Given the description of an element on the screen output the (x, y) to click on. 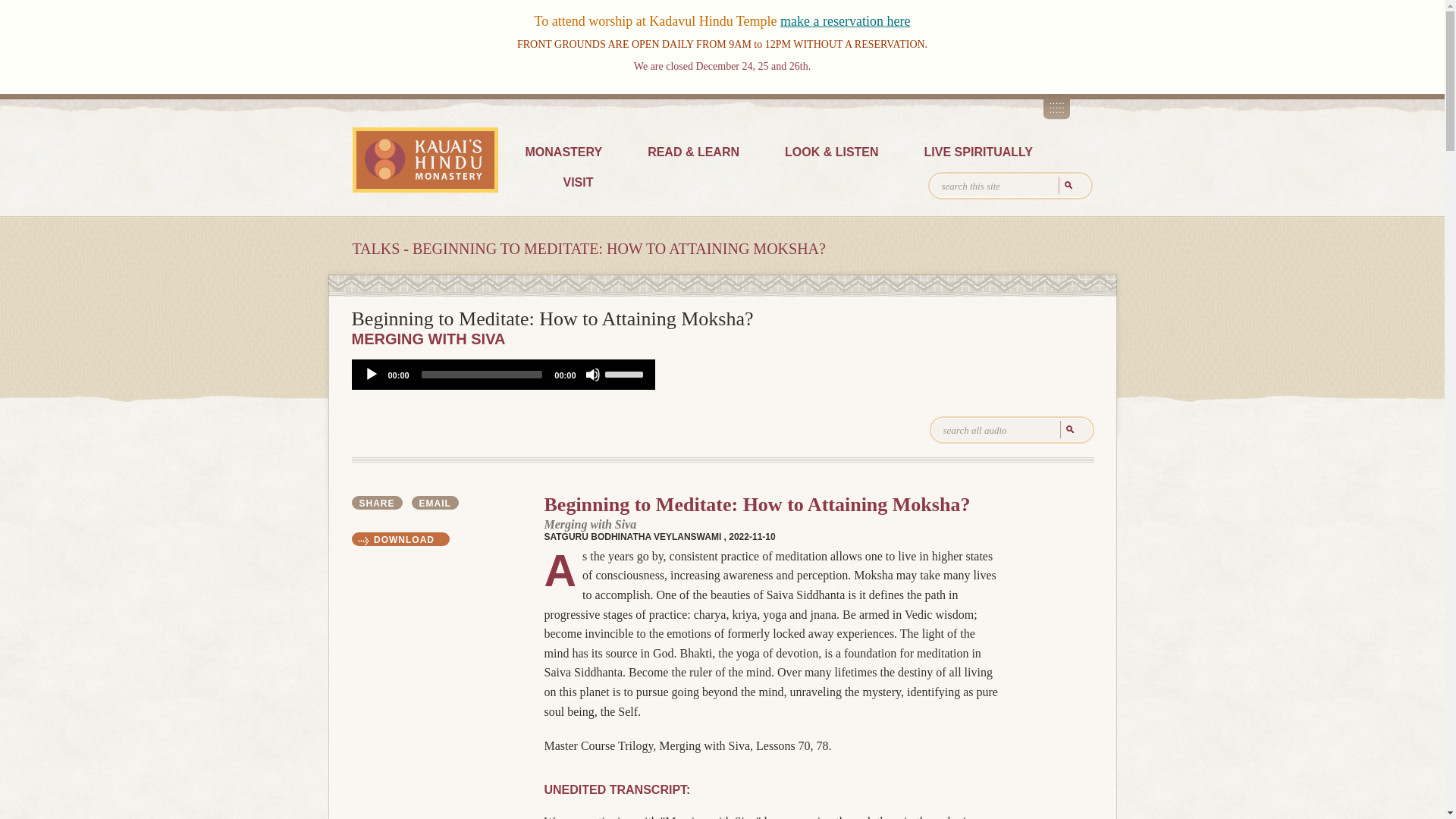
make a reservation here (845, 20)
MONASTERY (563, 152)
Related Sites (1056, 106)
search all audio (1012, 429)
Play (371, 374)
Expand Our Network Menu (1056, 106)
To attend worship at Kadavul Hindu Temple (657, 20)
search this site (1010, 185)
Mute (592, 374)
